Given the description of an element on the screen output the (x, y) to click on. 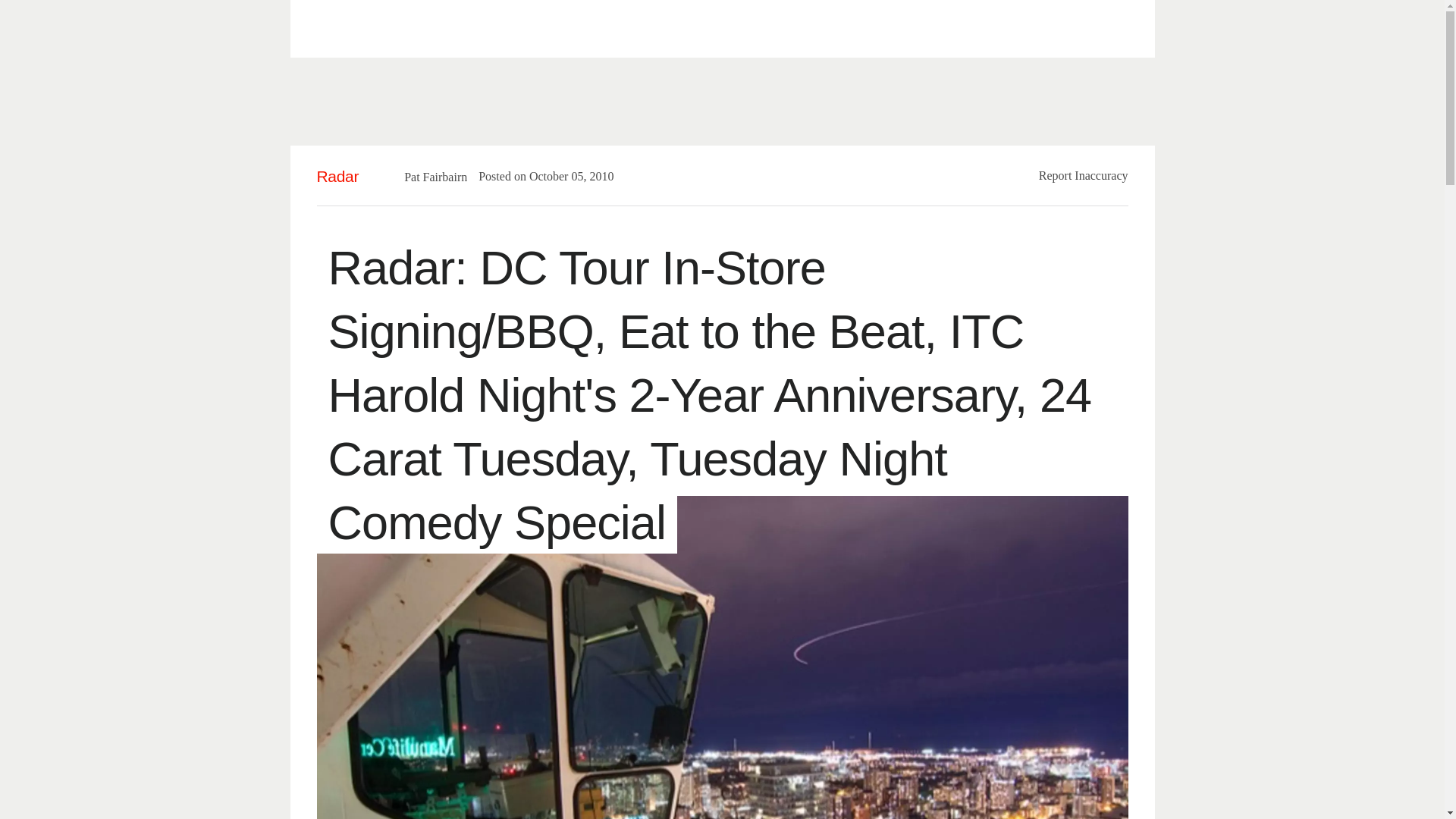
Report Inaccuracy (1083, 174)
Radar (338, 175)
2010-10-05T08:50:00 (563, 175)
